Given the description of an element on the screen output the (x, y) to click on. 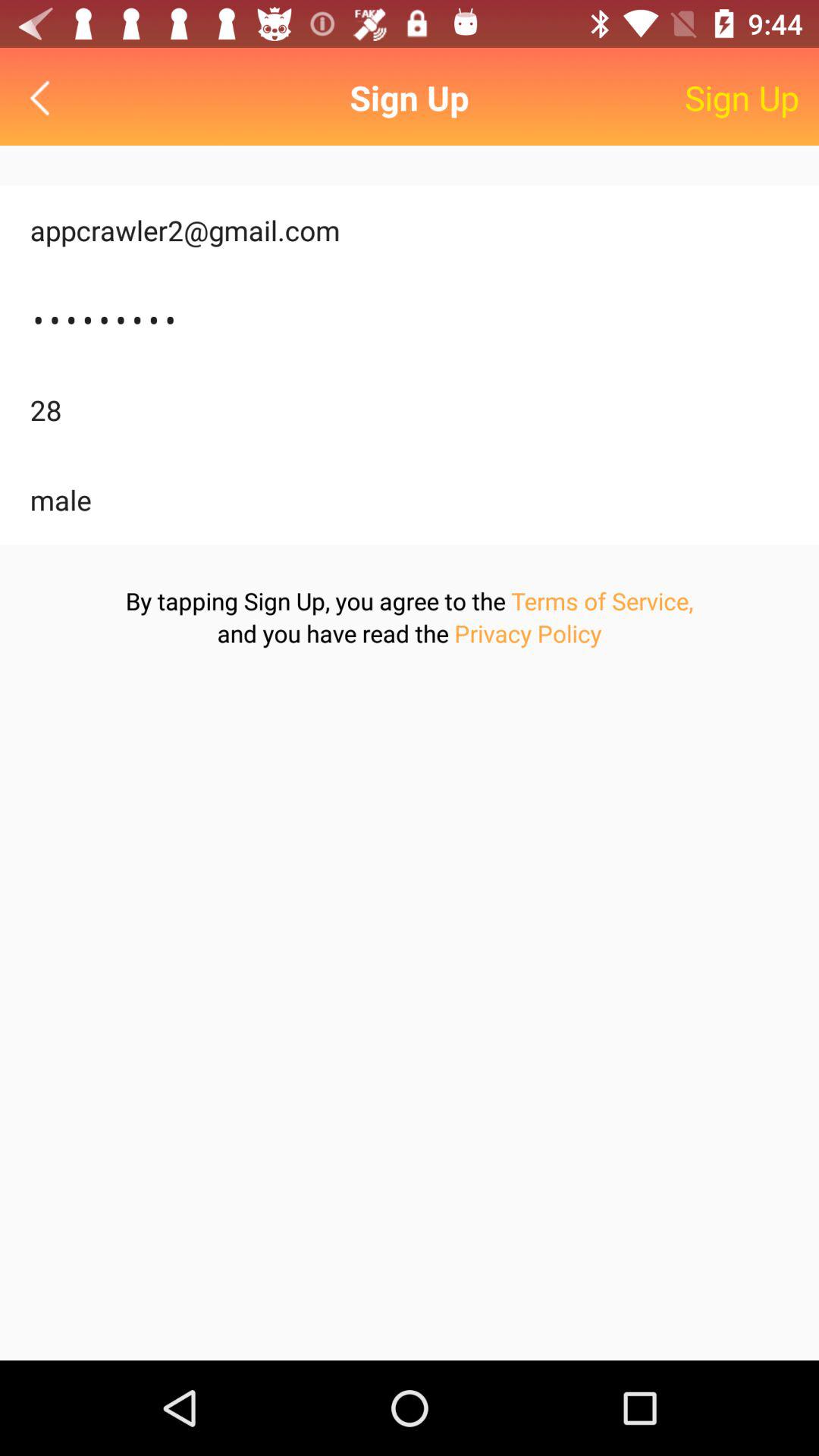
launch icon below by tapping sign icon (527, 633)
